Given the description of an element on the screen output the (x, y) to click on. 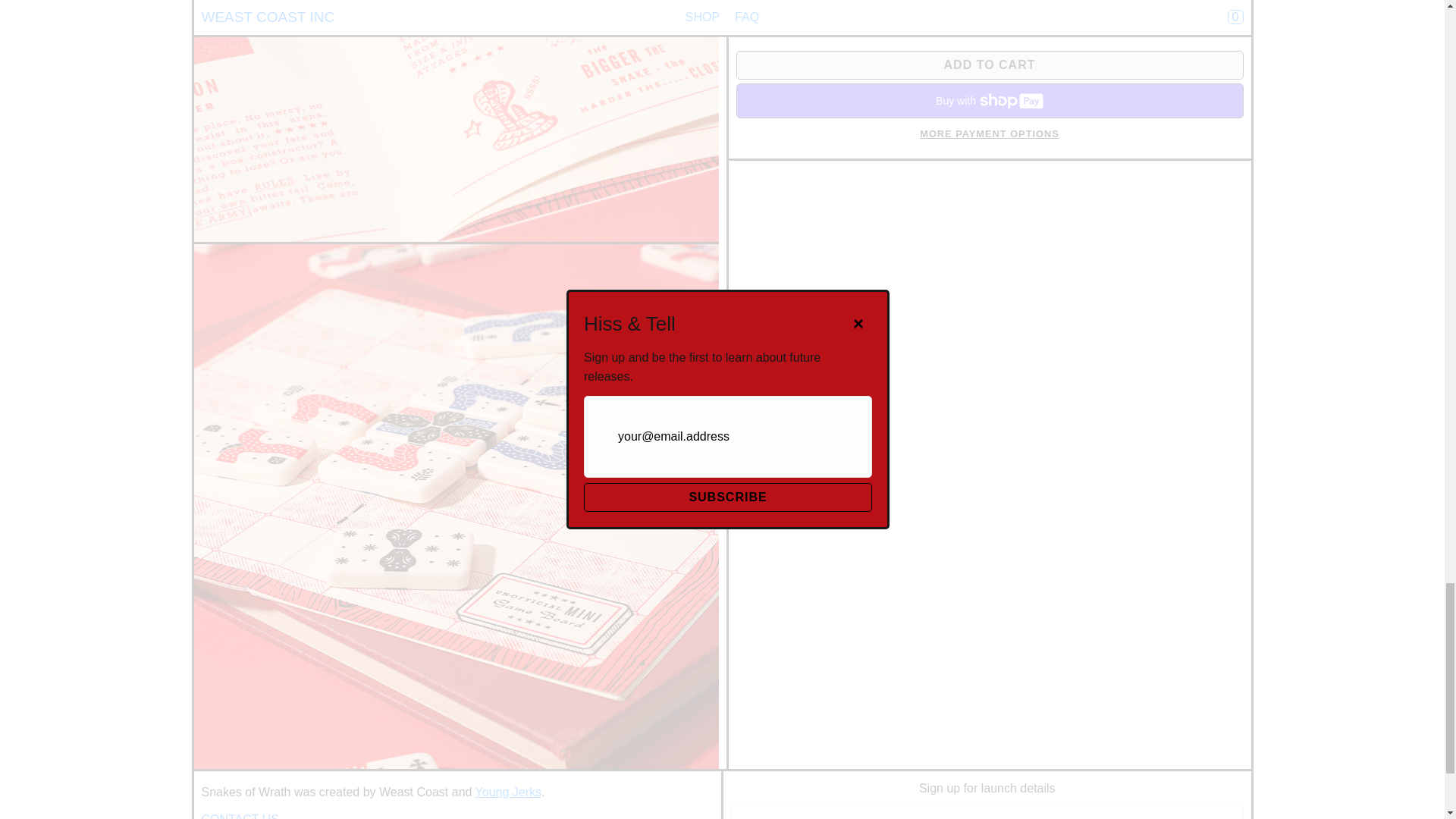
CONTACT US (240, 812)
Young Jerks (508, 791)
